Given the description of an element on the screen output the (x, y) to click on. 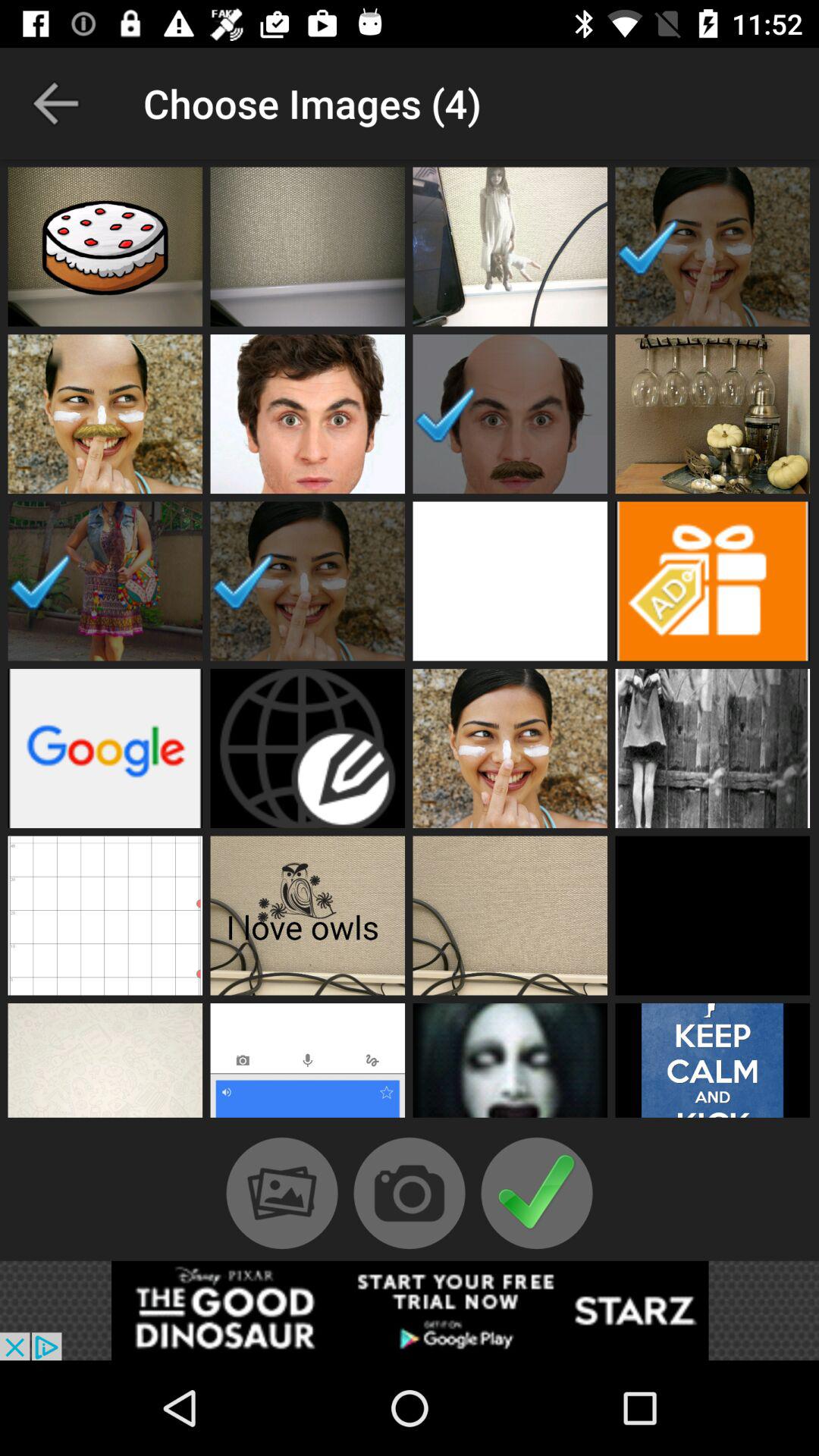
ateno par imagem do rosto (307, 413)
